Given the description of an element on the screen output the (x, y) to click on. 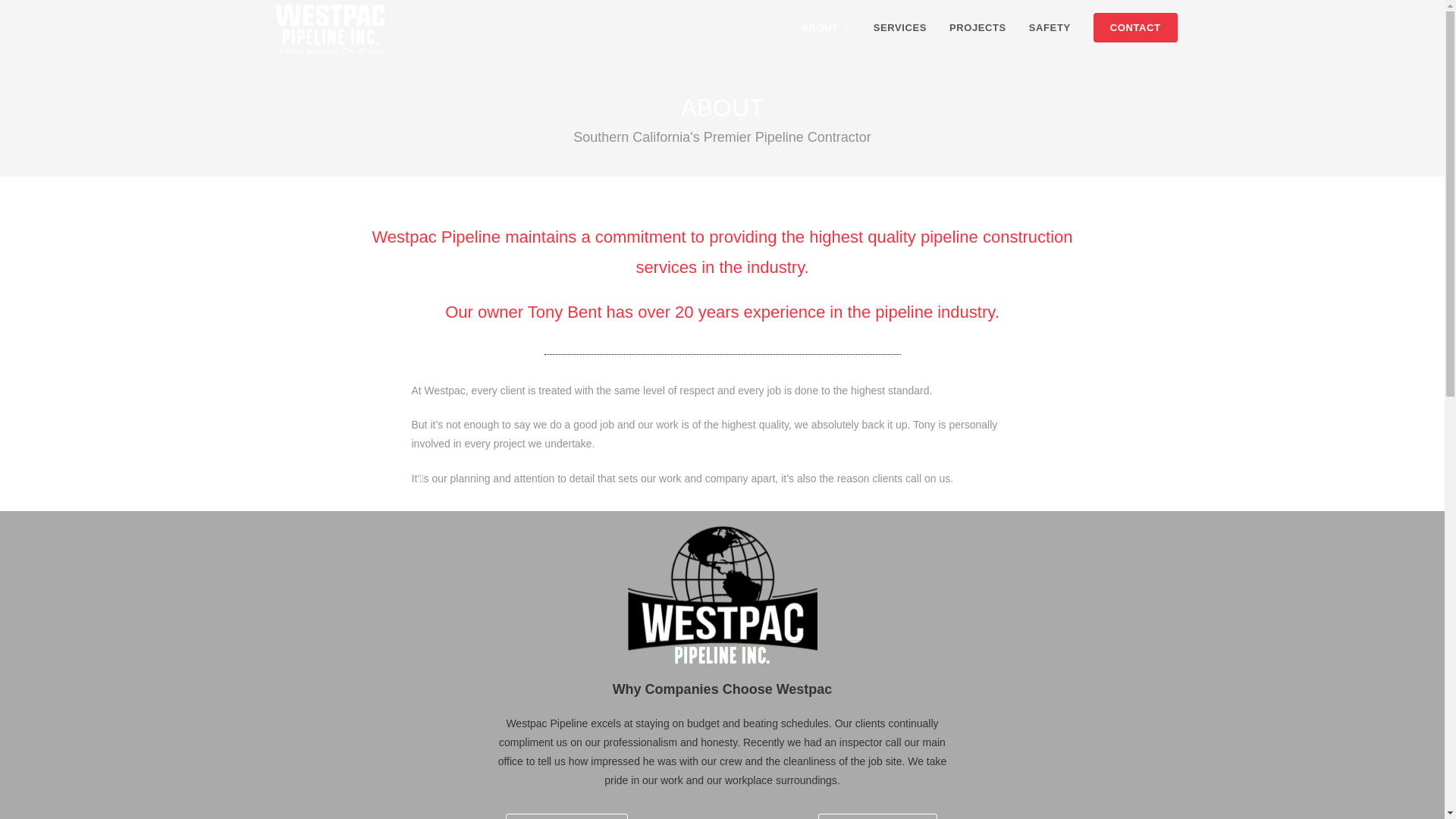
Review Projects (877, 816)
Review Services (566, 816)
CONTACT (1135, 28)
ABOUT (825, 28)
PROJECTS (977, 28)
SERVICES (899, 28)
SAFETY (1049, 28)
